Given the description of an element on the screen output the (x, y) to click on. 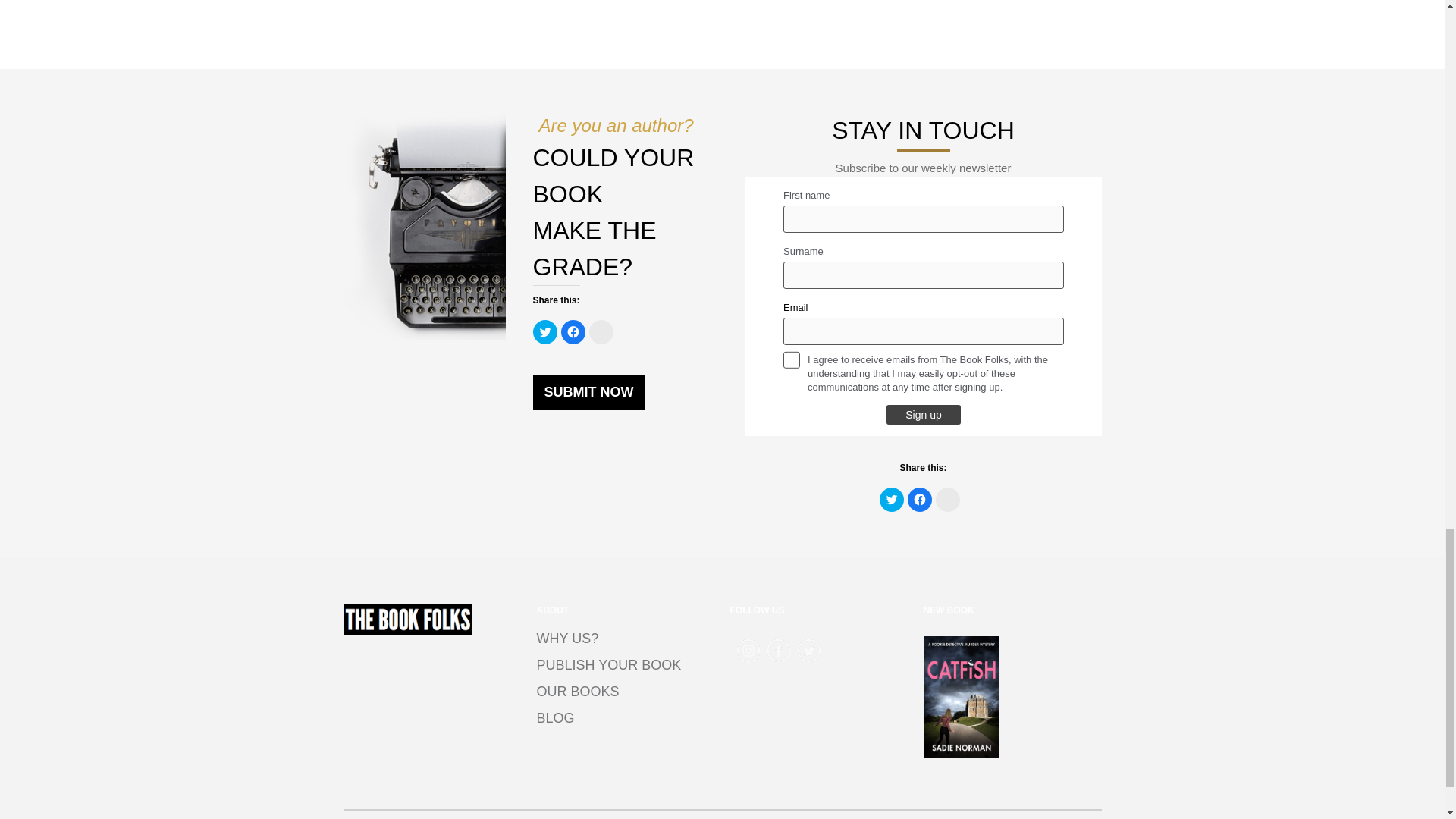
Click to share on Facebook (572, 331)
Click to share on Instagram (947, 499)
Click to share on Facebook (919, 499)
Click to share on Twitter (891, 499)
Click to share on Instagram (600, 331)
Click to share on Twitter (544, 331)
The Book Folks on Facebook (778, 650)
